Given the description of an element on the screen output the (x, y) to click on. 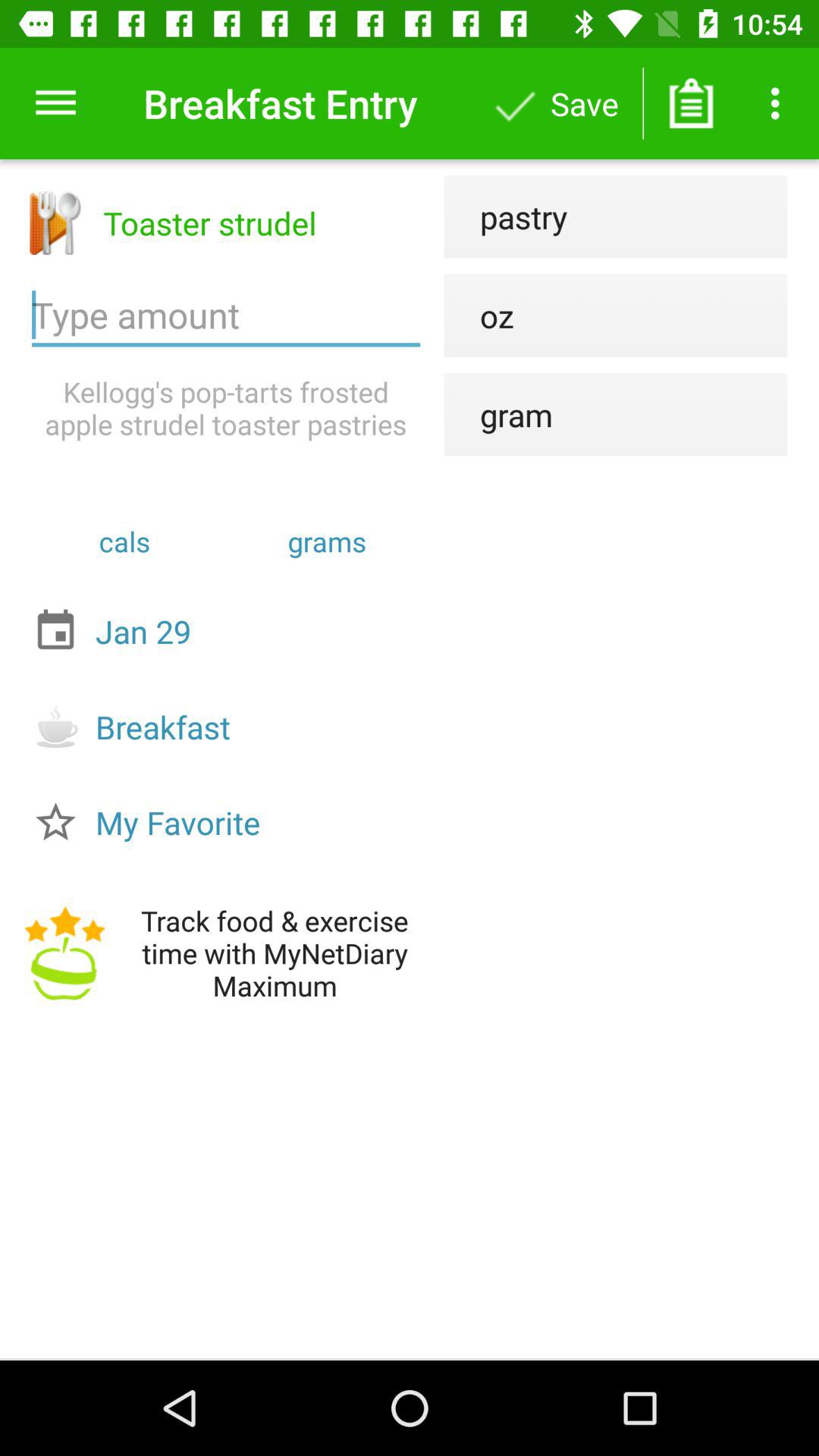
tap icon below breakfast icon (229, 822)
